Given the description of an element on the screen output the (x, y) to click on. 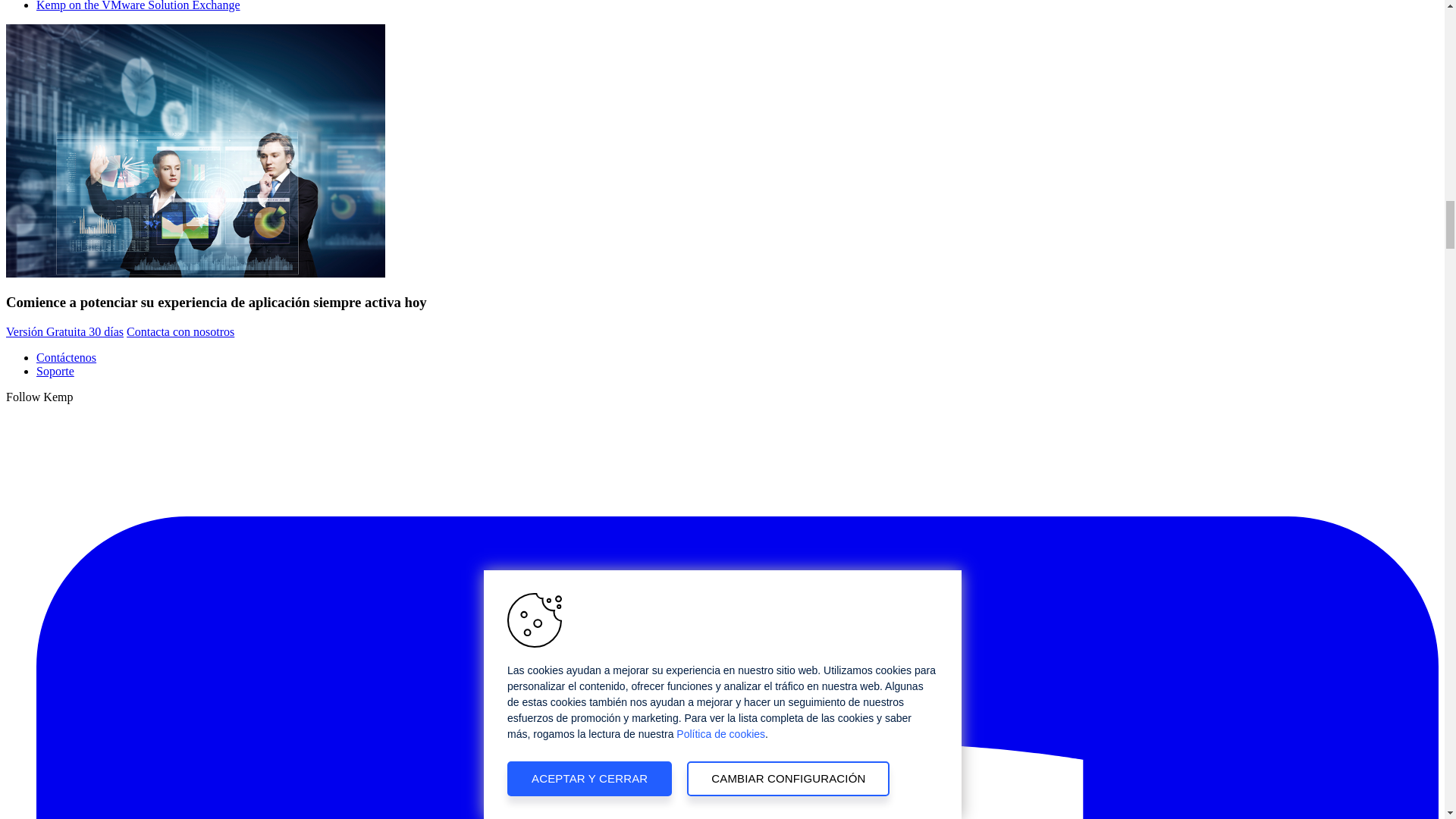
partners (195, 150)
